Given the description of an element on the screen output the (x, y) to click on. 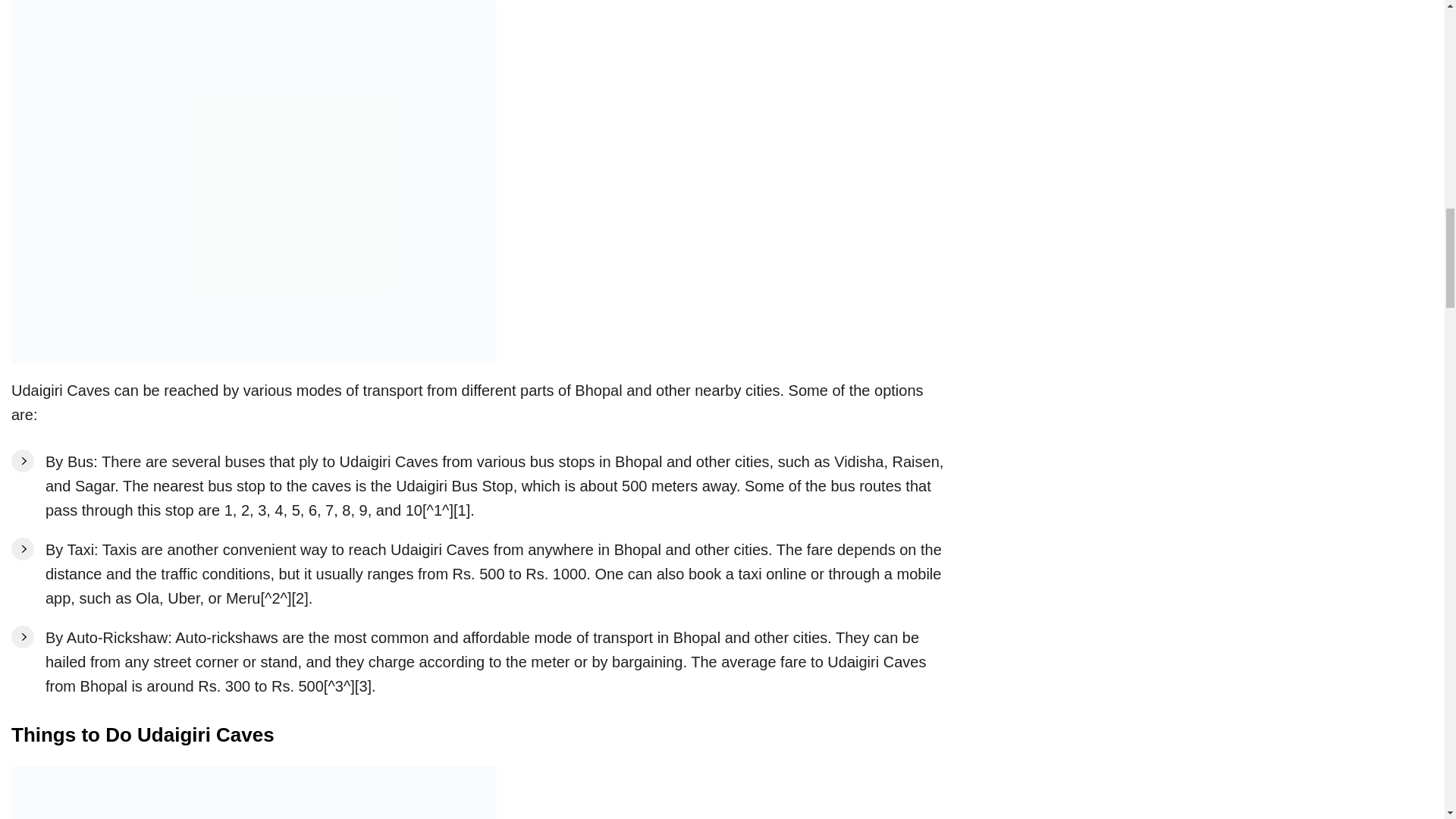
Udaigiri Caves : Best Place In Udaigiri 5 (253, 792)
